Given the description of an element on the screen output the (x, y) to click on. 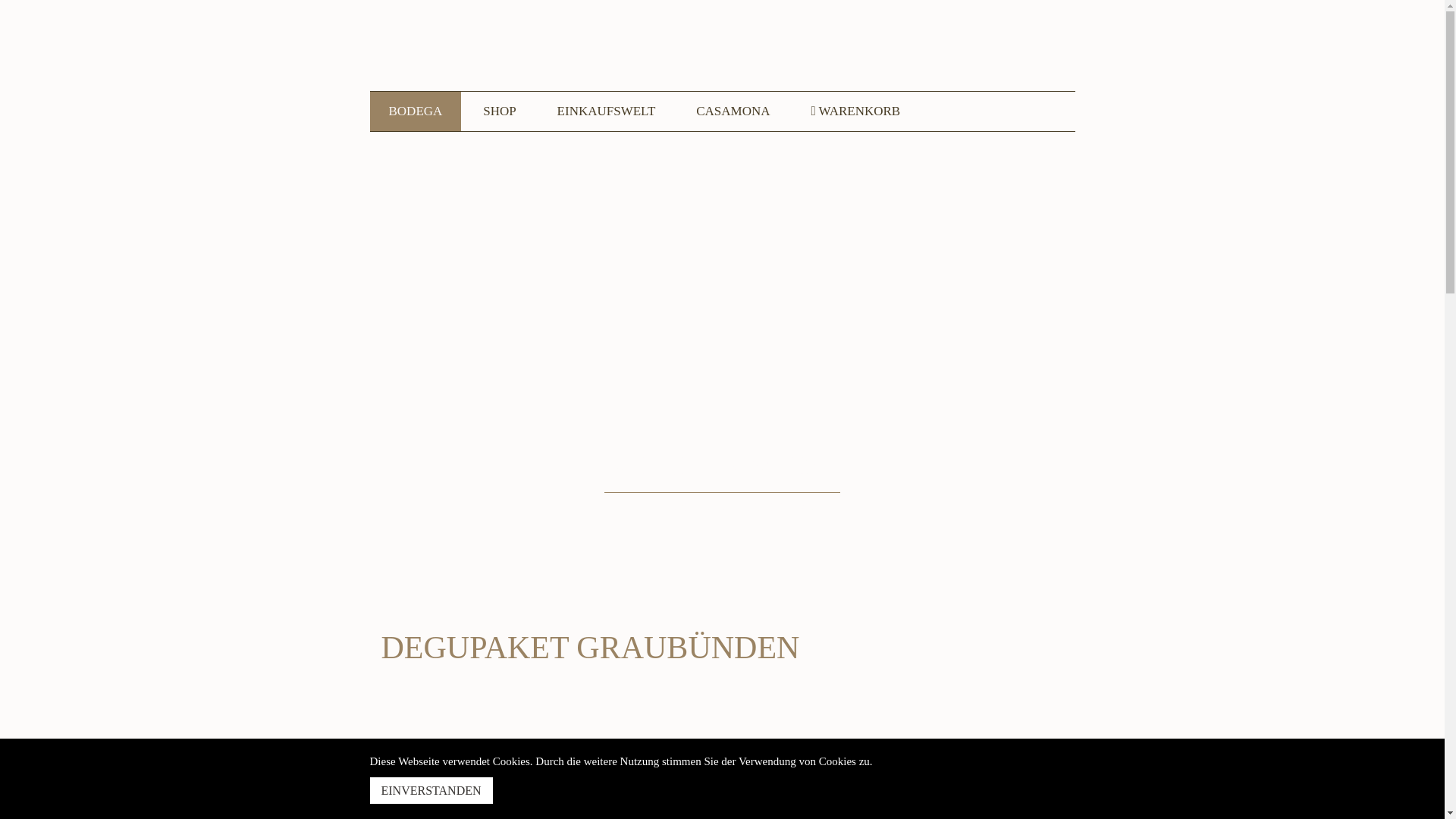
CASAMONA Element type: text (732, 111)
WARENKORB Element type: text (855, 111)
BODEGA Element type: text (415, 111)
EINKAUFSWELT Element type: text (606, 111)
SHOP Element type: text (499, 111)
